Given the description of an element on the screen output the (x, y) to click on. 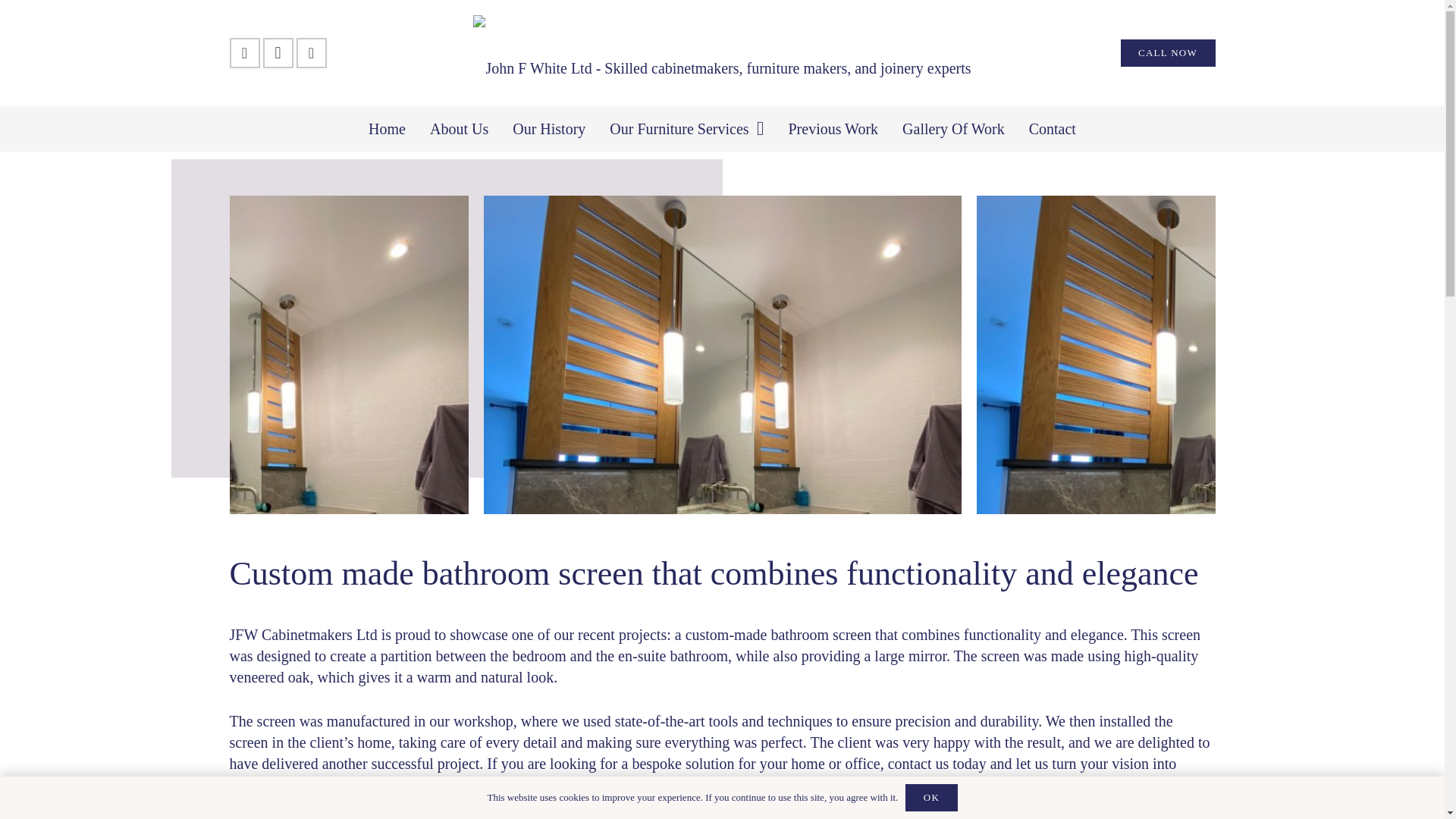
CALL NOW (1168, 52)
Contact (1051, 128)
Our Furniture Services (686, 128)
Facebook (243, 52)
Gallery Of Work (952, 128)
Previous Work (832, 128)
About Us (458, 128)
Our History (548, 128)
Instagram (277, 52)
Email (310, 52)
Home (386, 128)
